Given the description of an element on the screen output the (x, y) to click on. 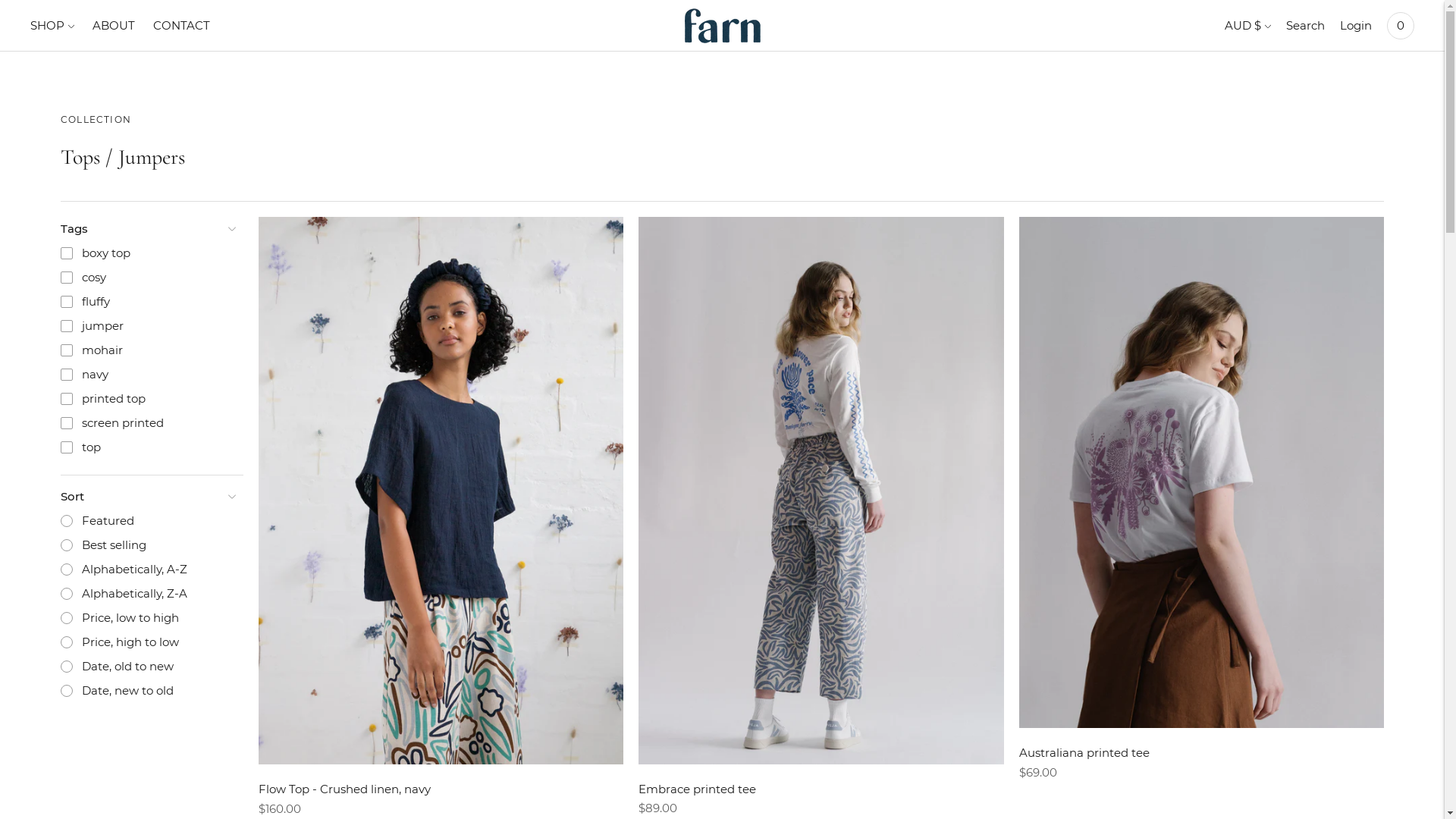
boxy top Element type: text (147, 253)
Alphabetically, A-Z Element type: text (147, 569)
Sort Element type: text (147, 496)
ABOUT Element type: text (113, 25)
navy Element type: text (147, 374)
CONTACT Element type: text (181, 25)
Date, new to old Element type: text (147, 690)
SHOP Element type: text (52, 25)
Flow Top - Crushed linen, navy Element type: text (344, 788)
Alphabetically, Z-A Element type: text (147, 593)
Date, old to new Element type: text (147, 666)
Search Element type: text (1305, 25)
cosy Element type: text (147, 277)
AUD $ Element type: text (1247, 25)
printed top Element type: text (147, 398)
Price, high to low Element type: text (147, 642)
Login Element type: text (1355, 25)
Featured Element type: text (147, 520)
Australiana printed tee Element type: text (1084, 752)
Embrace printed tee Element type: text (697, 788)
screen printed Element type: text (147, 423)
Price, low to high Element type: text (147, 617)
Tags Element type: text (147, 228)
Best selling Element type: text (147, 545)
top Element type: text (147, 447)
0 Element type: text (1400, 25)
fluffy Element type: text (147, 301)
mohair Element type: text (147, 350)
jumper Element type: text (147, 325)
